Given the description of an element on the screen output the (x, y) to click on. 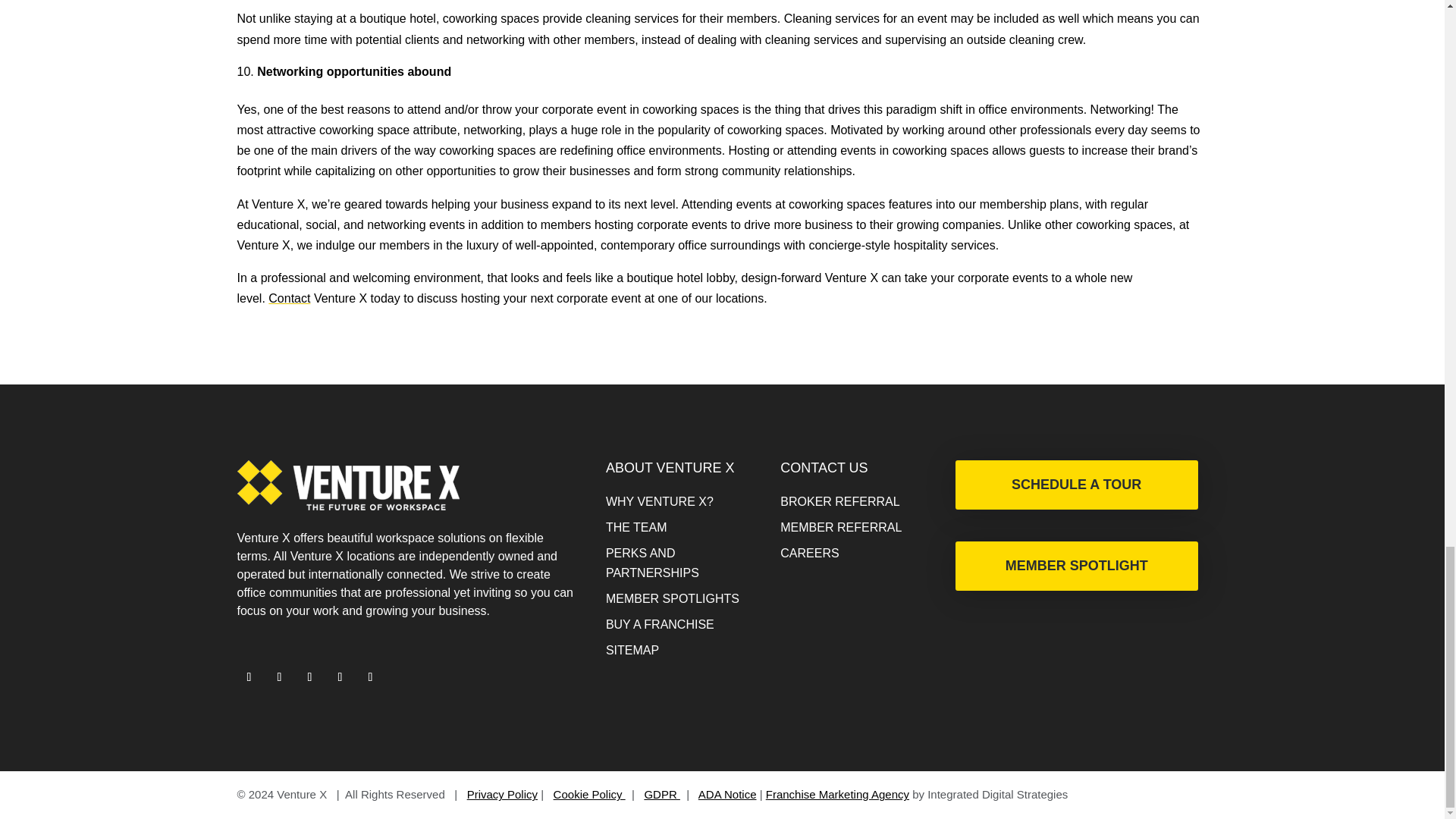
Follow on X (247, 677)
Follow on Pinterest (369, 677)
Follow on Instagram (309, 677)
Follow on Facebook (278, 677)
logo (346, 485)
Follow on LinkedIn (339, 677)
